Given the description of an element on the screen output the (x, y) to click on. 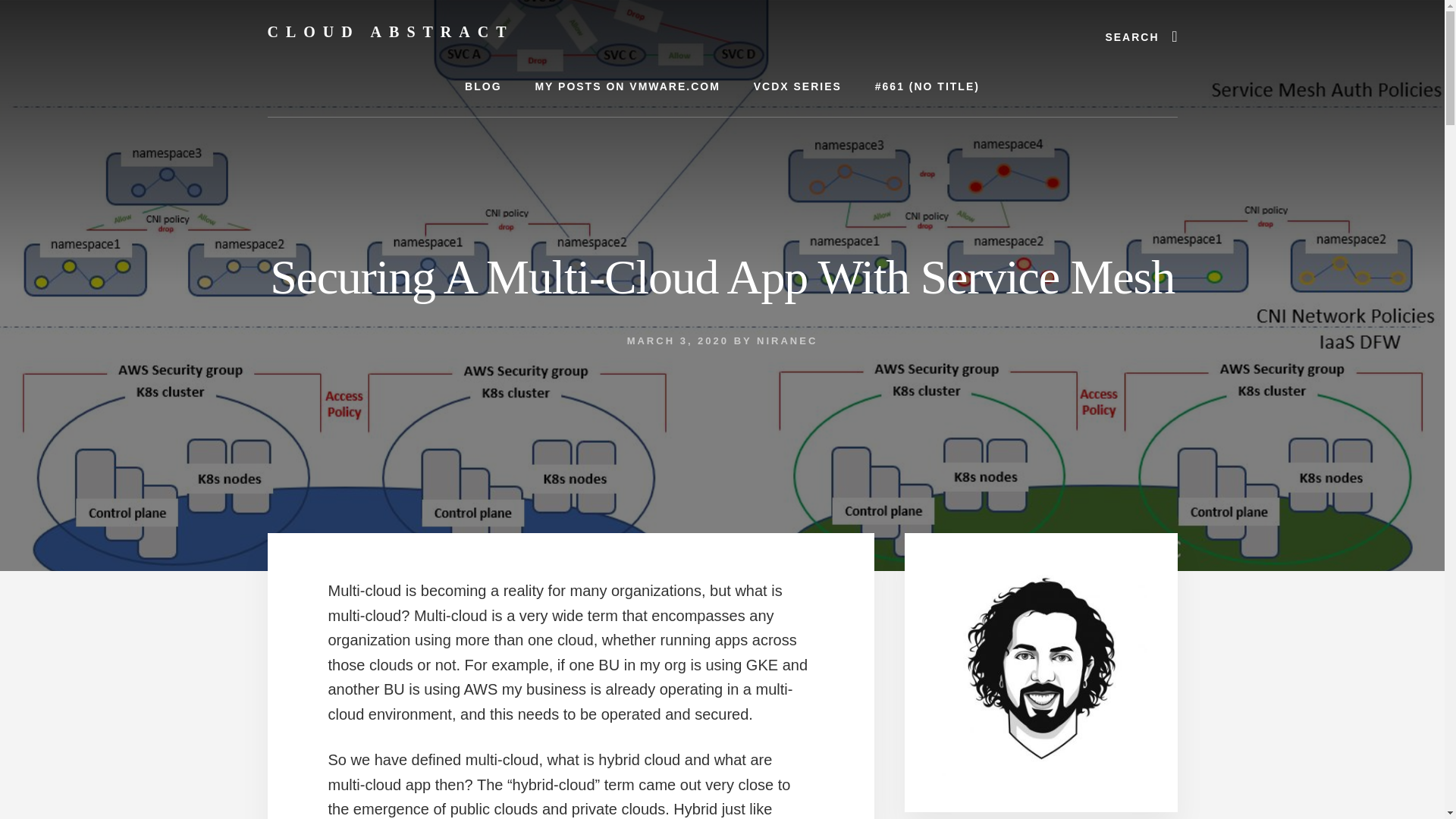
NIRANEC (786, 340)
MY POSTS ON VMWARE.COM (627, 86)
VCDX SERIES (797, 86)
BLOG (482, 86)
CLOUD ABSTRACT (389, 31)
